Given the description of an element on the screen output the (x, y) to click on. 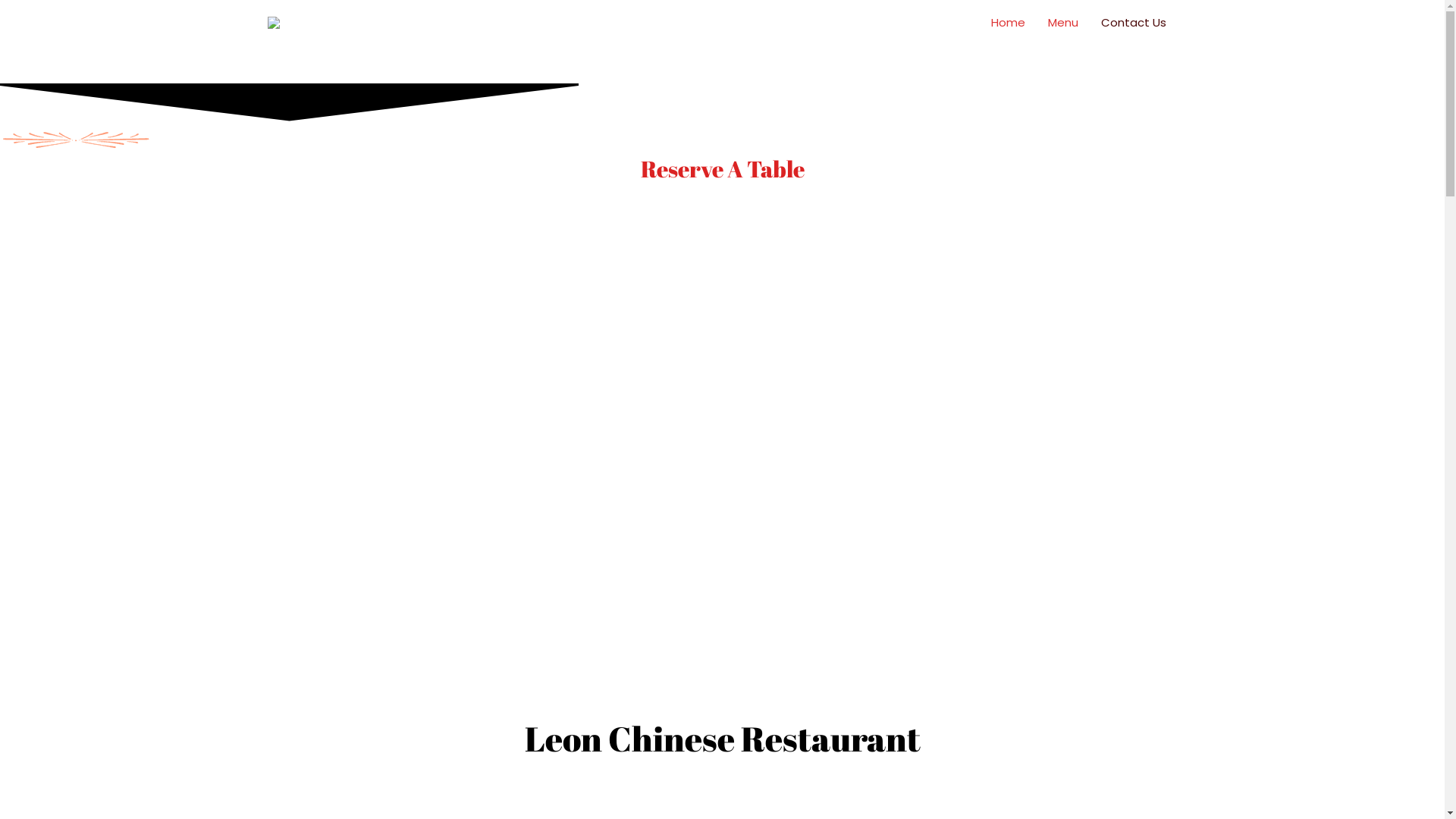
Contact Us Element type: text (1132, 22)
Home Element type: text (1007, 22)
Menu Element type: text (1061, 22)
